Given the description of an element on the screen output the (x, y) to click on. 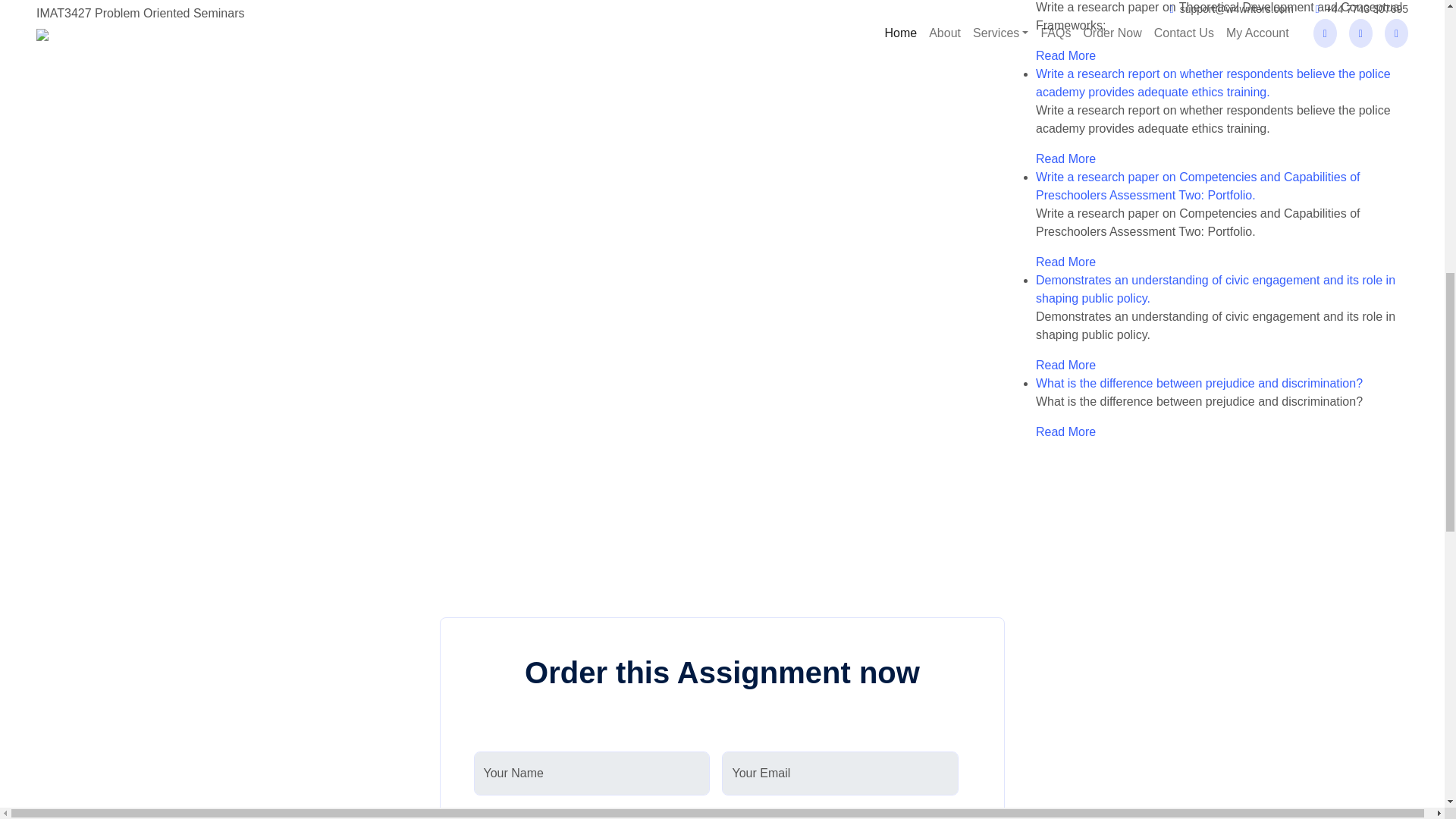
Read More (1065, 158)
Read More (1065, 364)
Read More (1065, 55)
Read More (1065, 261)
